Given the description of an element on the screen output the (x, y) to click on. 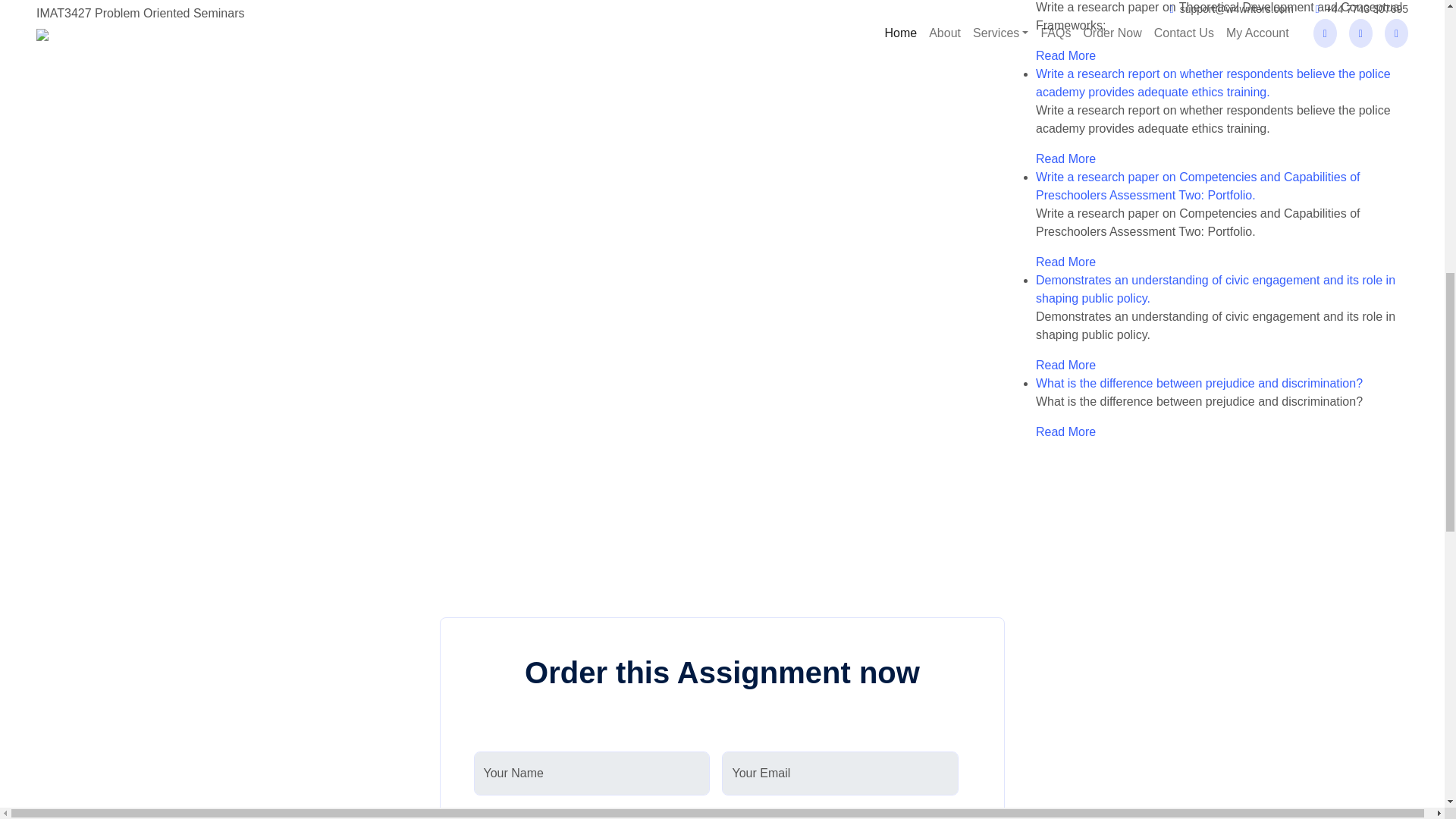
Read More (1065, 158)
Read More (1065, 364)
Read More (1065, 55)
Read More (1065, 261)
